Given the description of an element on the screen output the (x, y) to click on. 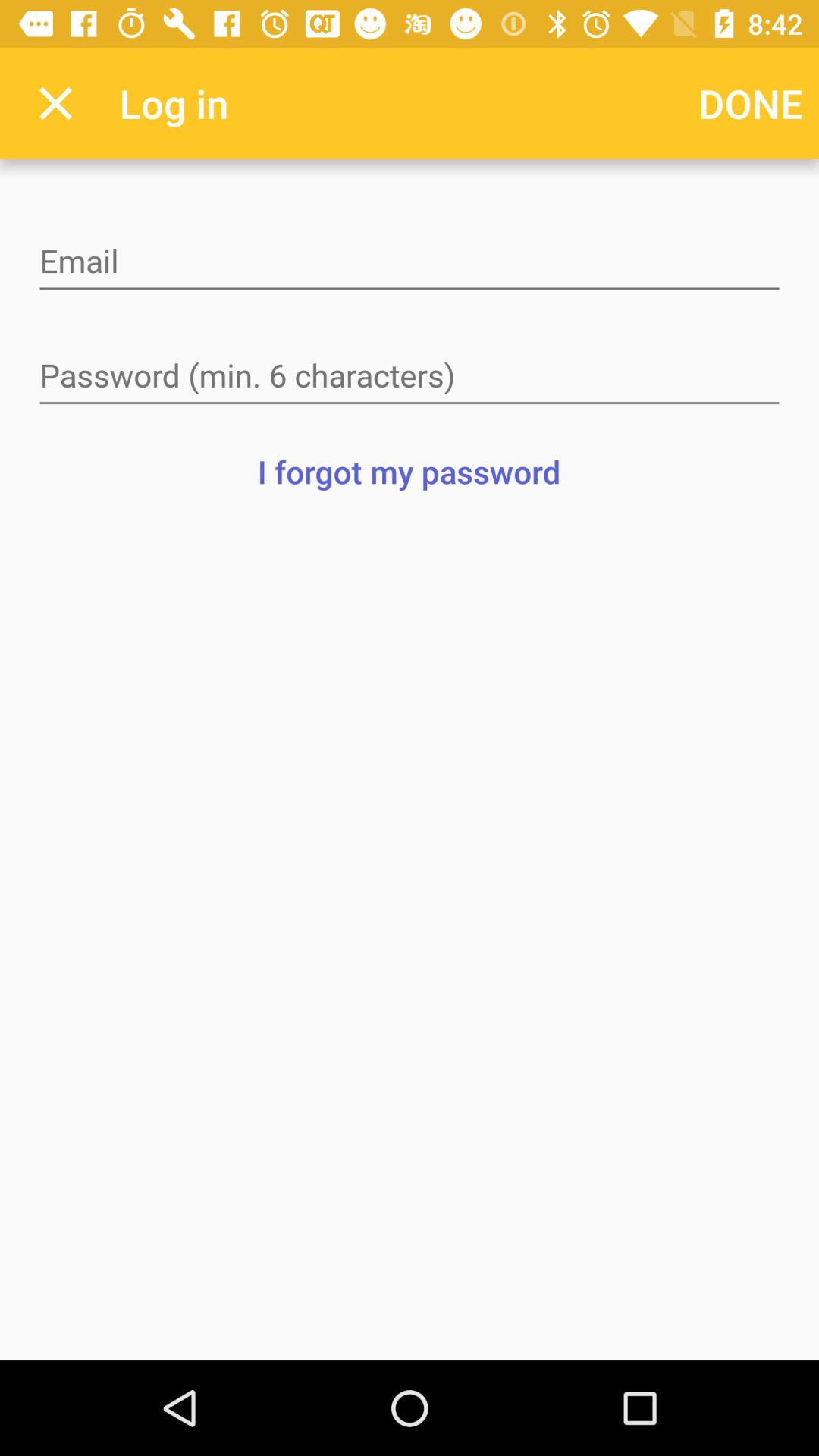
enter password (409, 376)
